Given the description of an element on the screen output the (x, y) to click on. 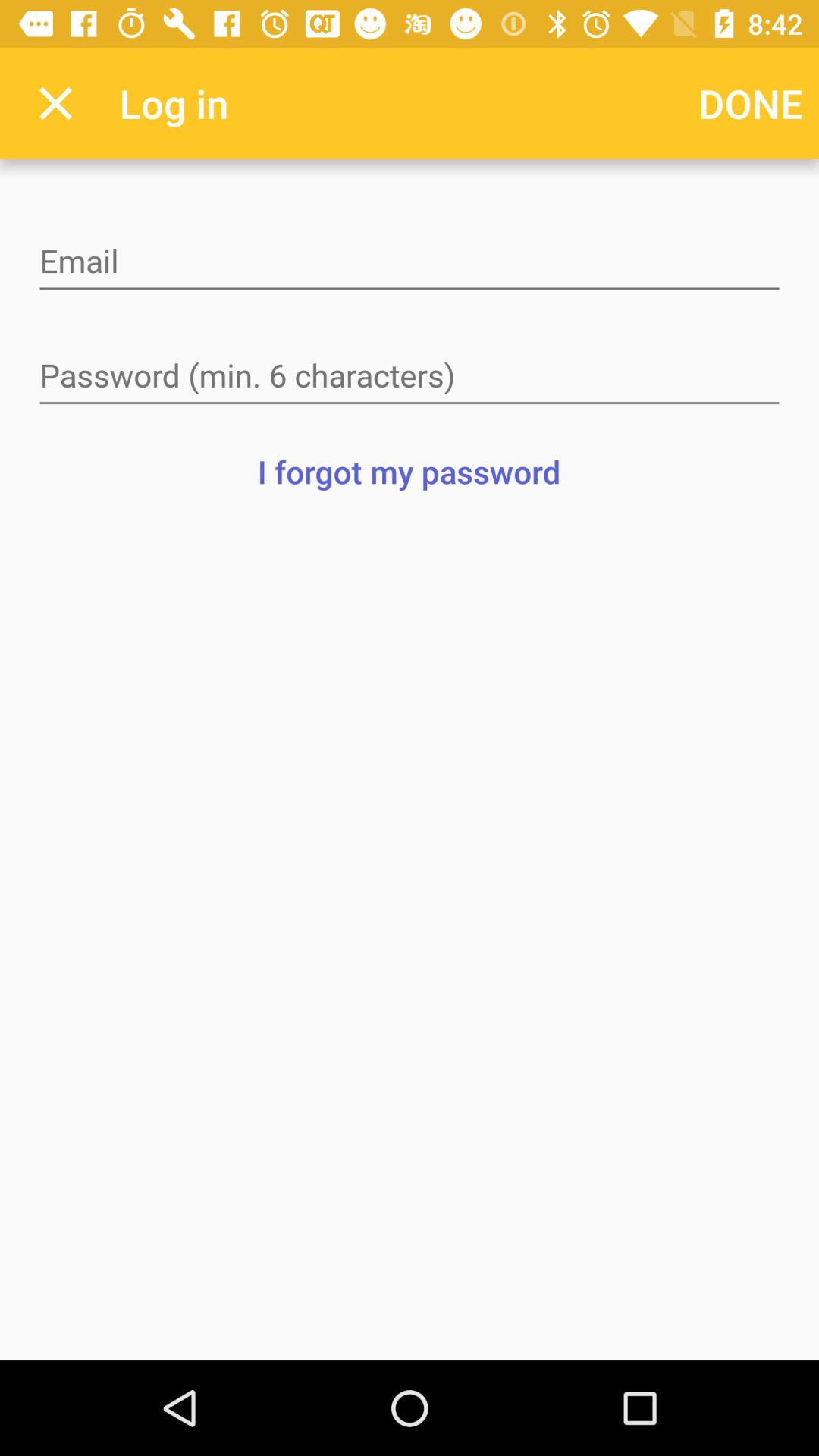
enter password (409, 376)
